Given the description of an element on the screen output the (x, y) to click on. 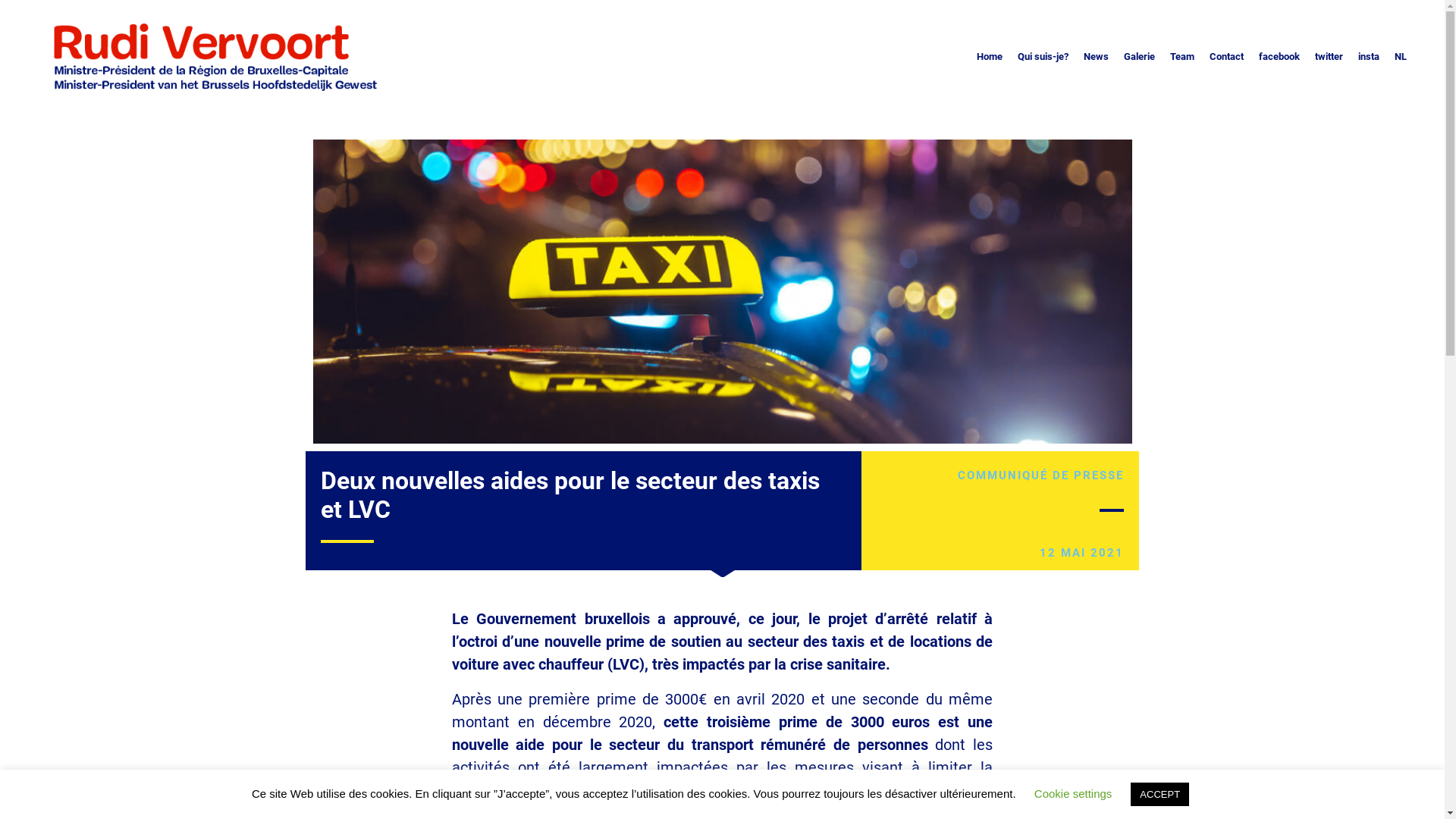
Qui suis-je? Element type: text (1042, 56)
insta Element type: text (1368, 56)
NL Element type: text (1400, 56)
Galerie Element type: text (1138, 56)
twitter Element type: text (1328, 56)
Team Element type: text (1182, 56)
Cookie settings Element type: text (1073, 793)
Contact Element type: text (1226, 56)
facebook Element type: text (1278, 56)
Home Element type: text (989, 56)
News Element type: text (1095, 56)
ACCEPT Element type: text (1159, 794)
